Given the description of an element on the screen output the (x, y) to click on. 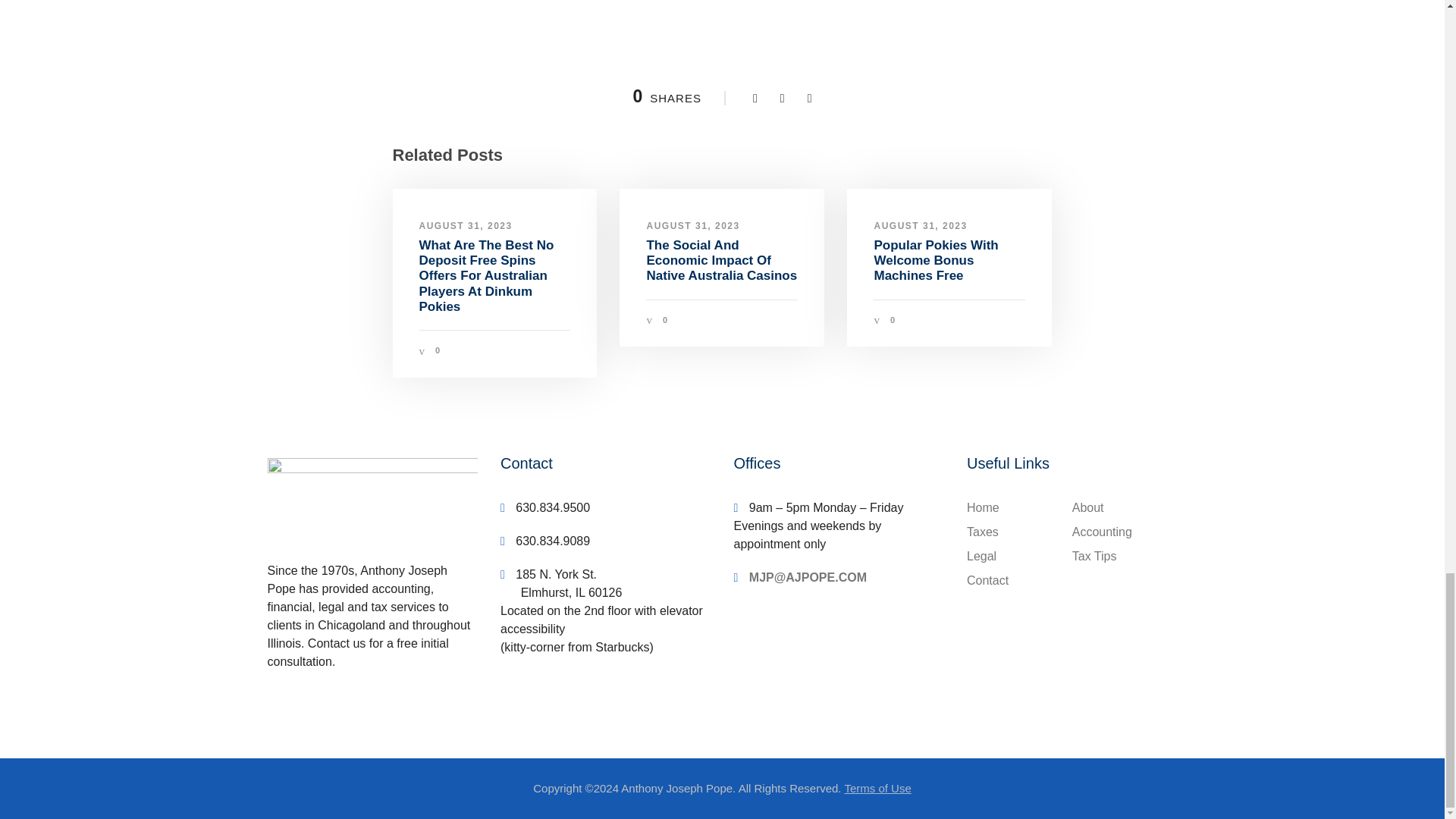
The Social And Economic Impact Of Native Australia Casinos (721, 260)
AUGUST 31, 2023 (919, 225)
Popular Pokies With Welcome Bonus Machines Free (935, 260)
Home (982, 507)
AUGUST 31, 2023 (465, 225)
AUGUST 31, 2023 (692, 225)
